Given the description of an element on the screen output the (x, y) to click on. 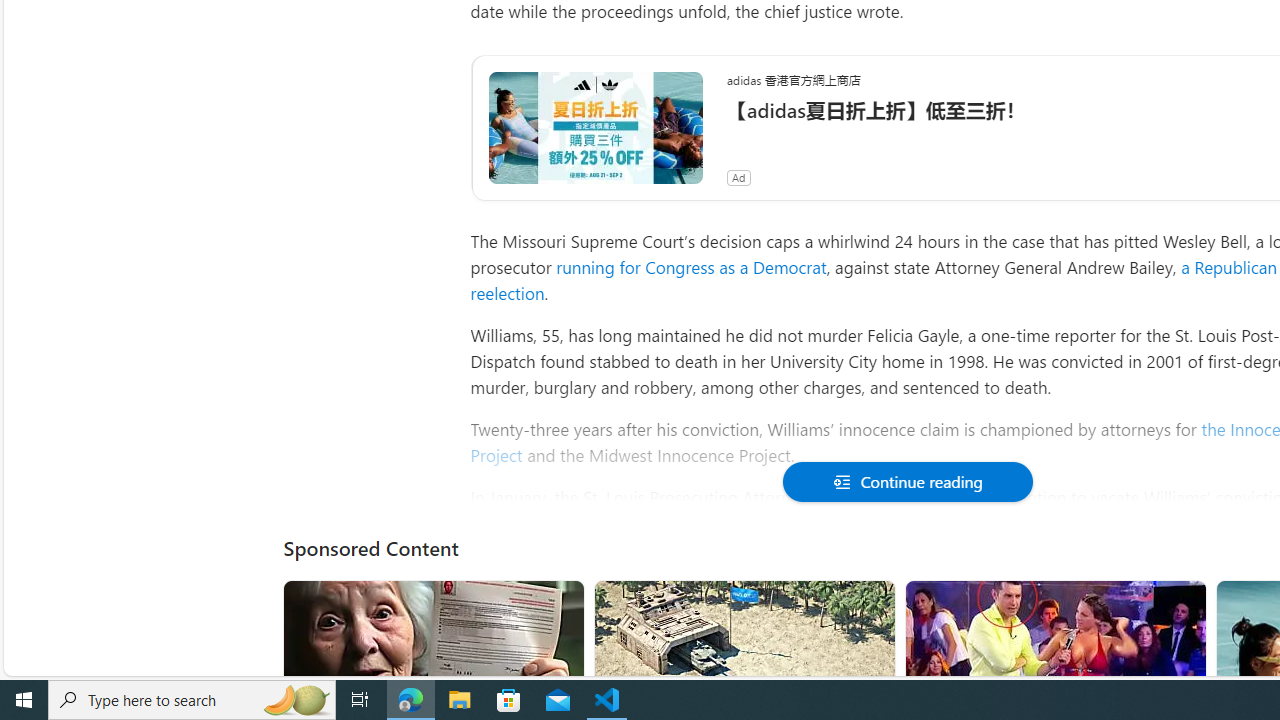
See more (1182, 604)
running for Congress as a Democrat (690, 266)
Ad (738, 177)
